Given the description of an element on the screen output the (x, y) to click on. 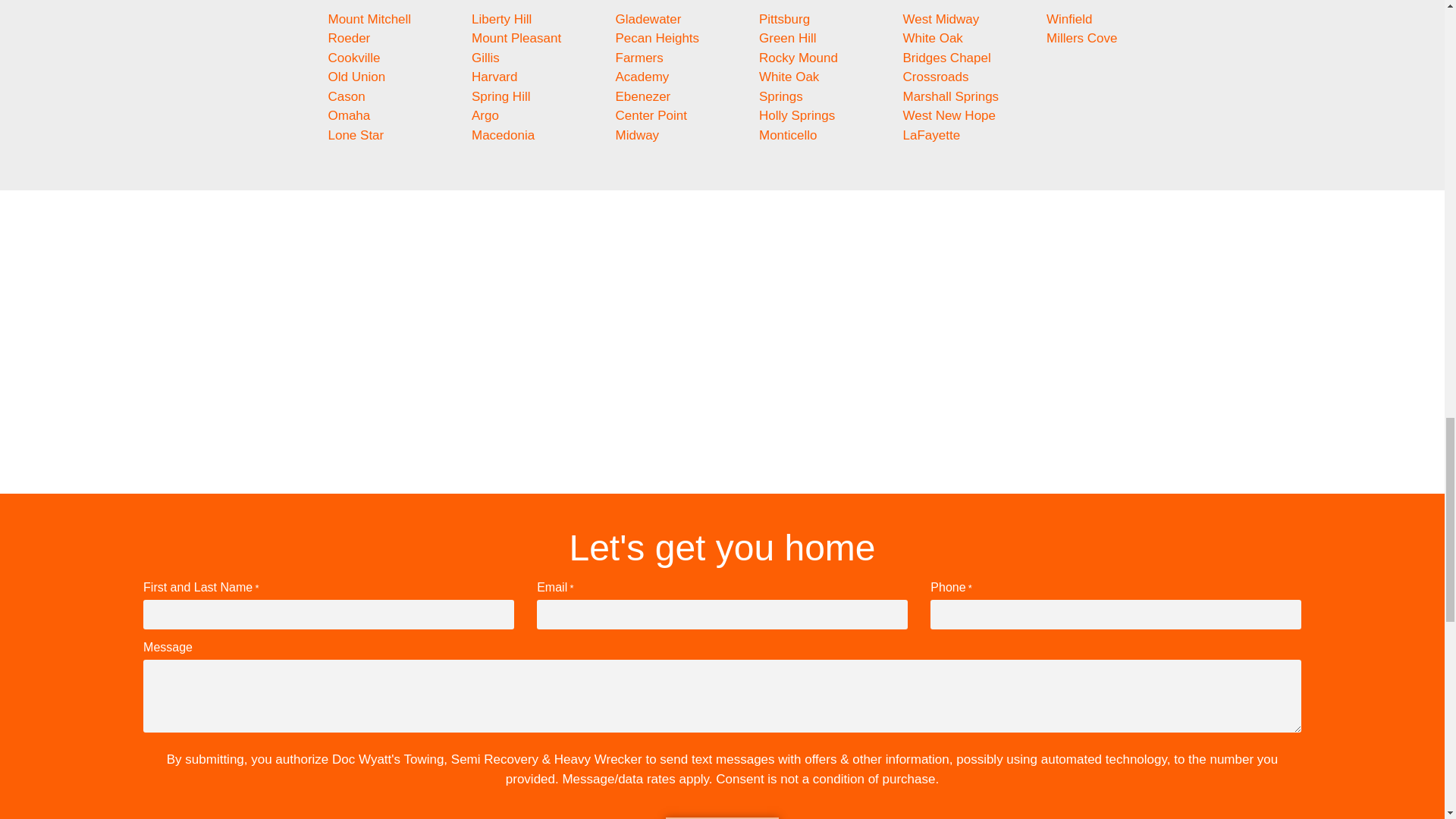
Submit (721, 818)
